Given the description of an element on the screen output the (x, y) to click on. 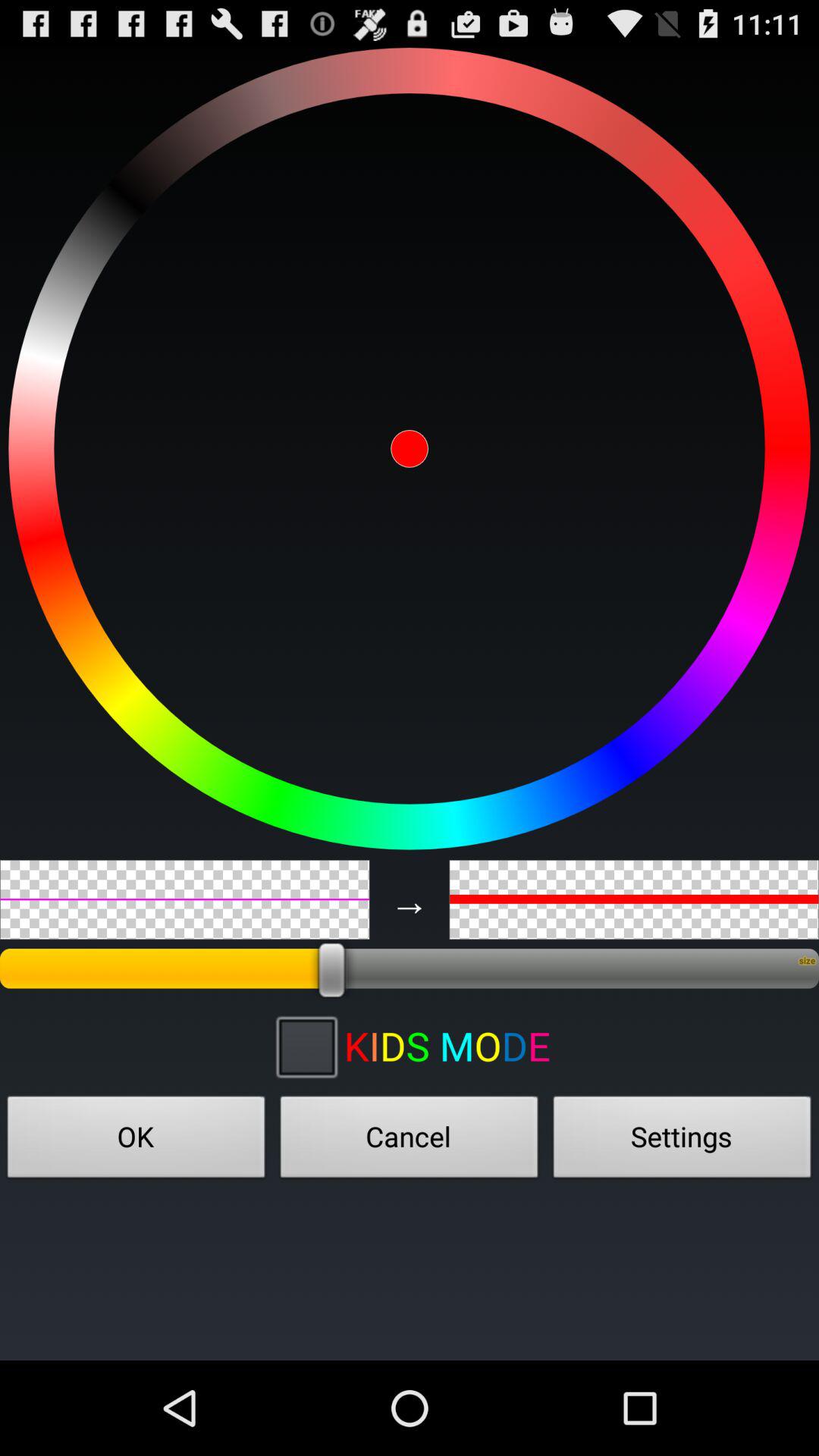
select the button next to the ok item (409, 1141)
